Given the description of an element on the screen output the (x, y) to click on. 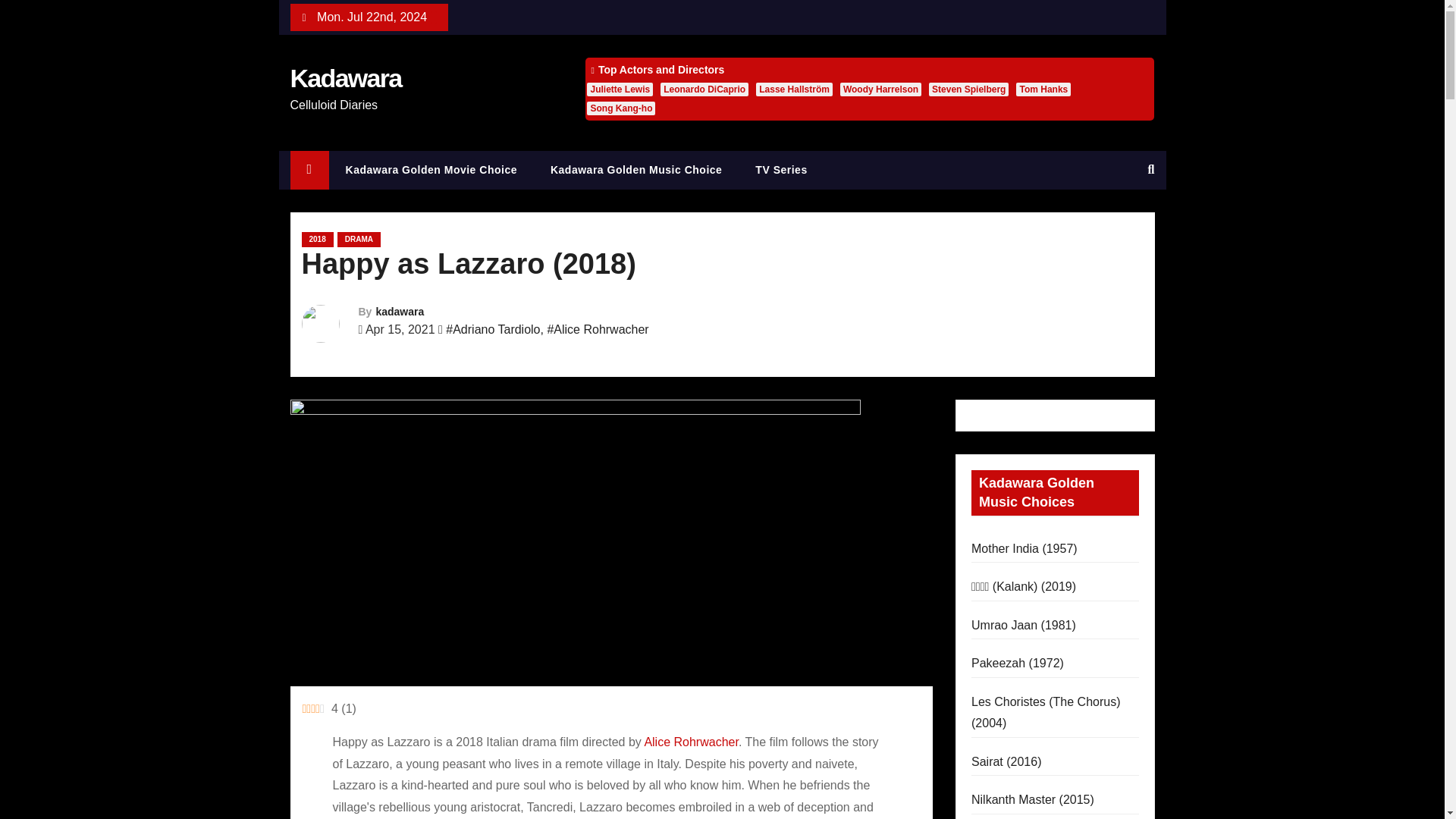
Kadawara (345, 77)
Kadawara Golden Music Choice (636, 169)
Song Kang-ho (620, 108)
Posts tagged with Alice Rohrwacher (690, 741)
Kadawara Golden Movie Choice (431, 169)
TV Series (781, 169)
Juliette Lewis (619, 89)
2018 (317, 239)
TV Series (781, 169)
Kadawara Golden Music Choice (636, 169)
Kadawara Golden Movie Choice (431, 169)
Alice Rohrwacher (690, 741)
DRAMA (358, 239)
Leonardo DiCaprio (704, 89)
Home (309, 169)
